Given the description of an element on the screen output the (x, y) to click on. 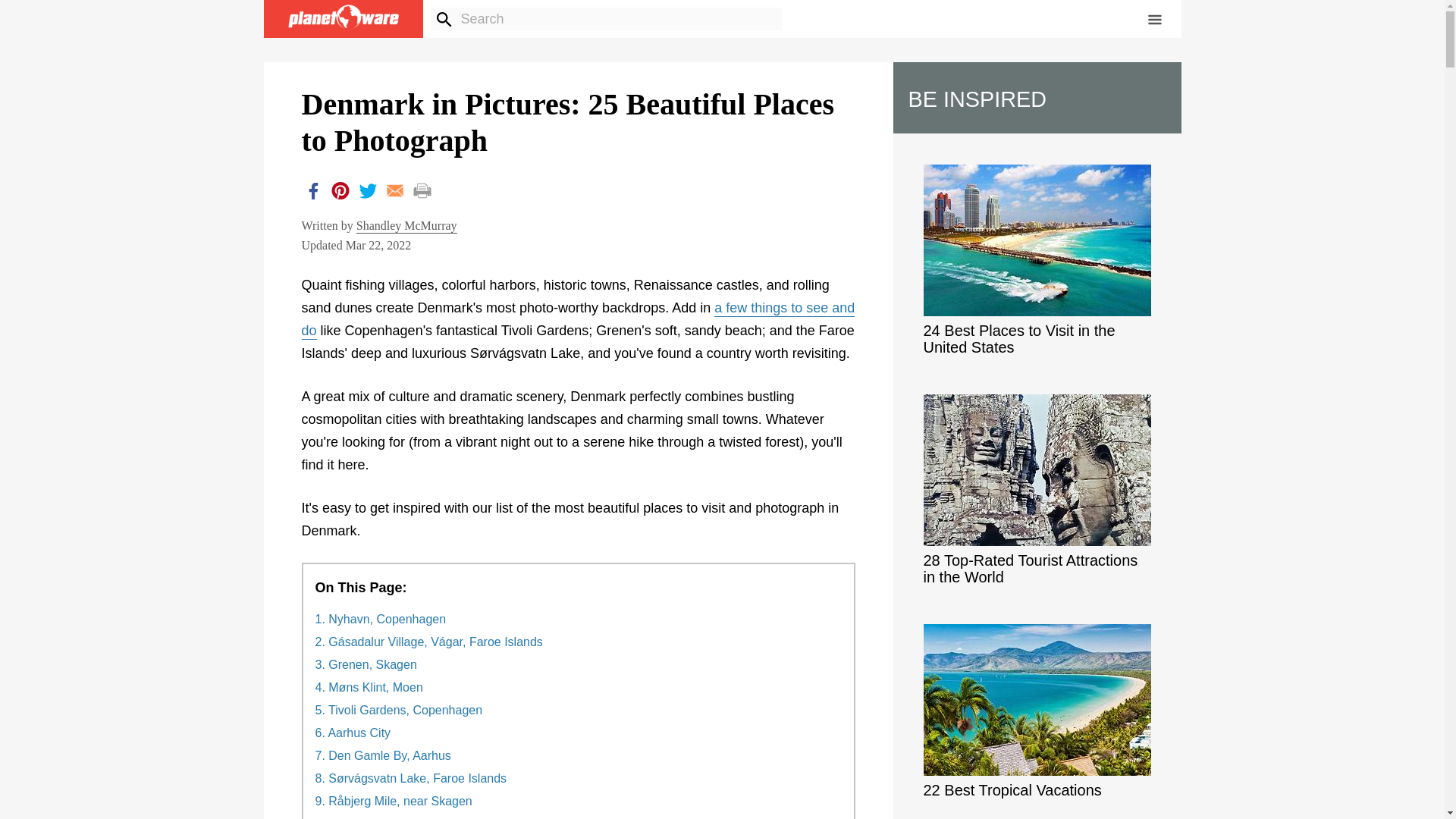
5. Tivoli Gardens, Copenhagen (399, 710)
3. Grenen, Skagen (365, 664)
1. Nyhavn, Copenhagen (380, 619)
a few things to see and do (578, 319)
7. Den Gamle By, Aarhus (383, 755)
6. Aarhus City (353, 733)
Shandley McMurray (406, 226)
